Given the description of an element on the screen output the (x, y) to click on. 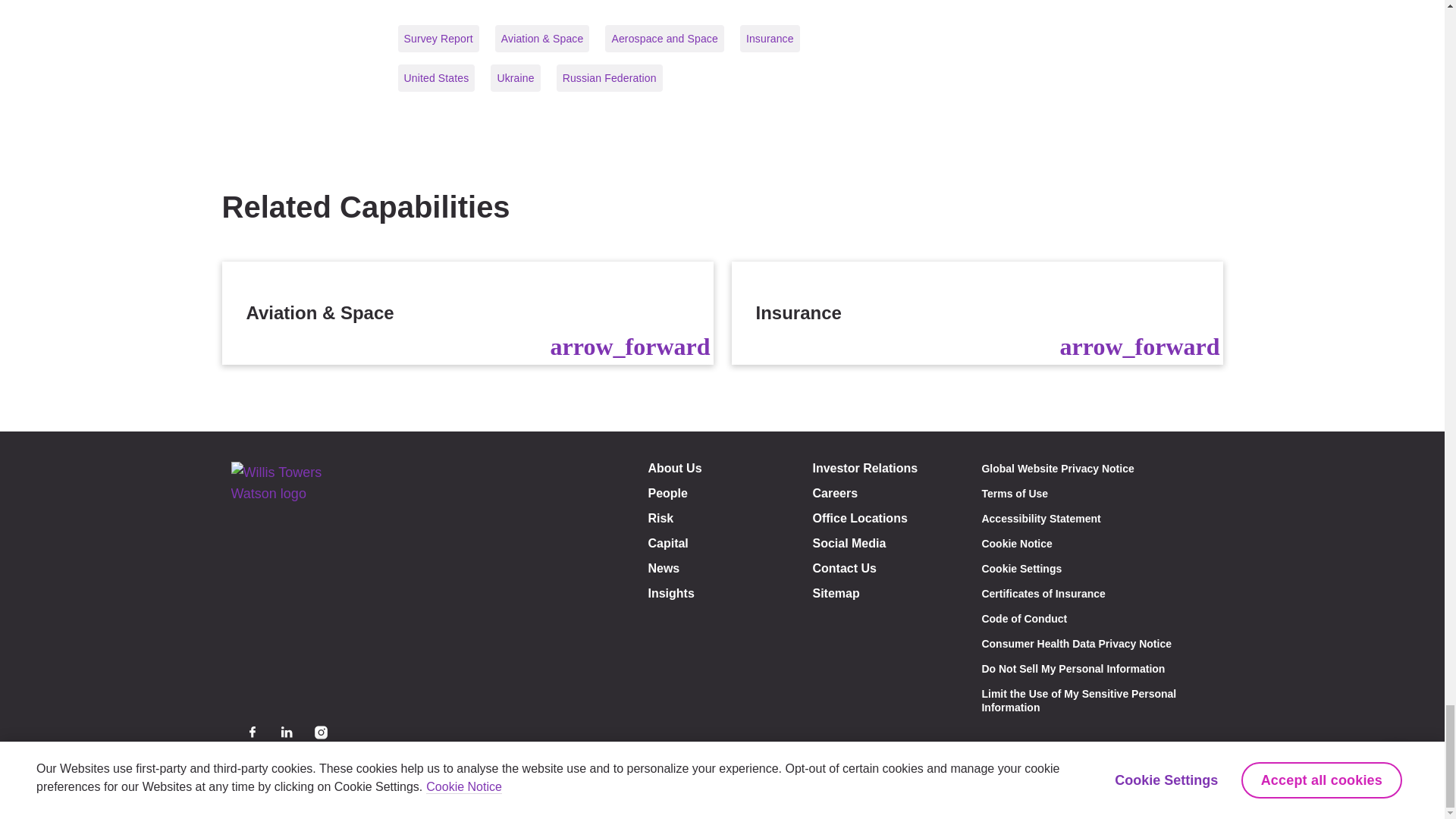
Facebook (252, 732)
Instagram (320, 732)
Insurance (976, 312)
Linkedin (287, 732)
